Given the description of an element on the screen output the (x, y) to click on. 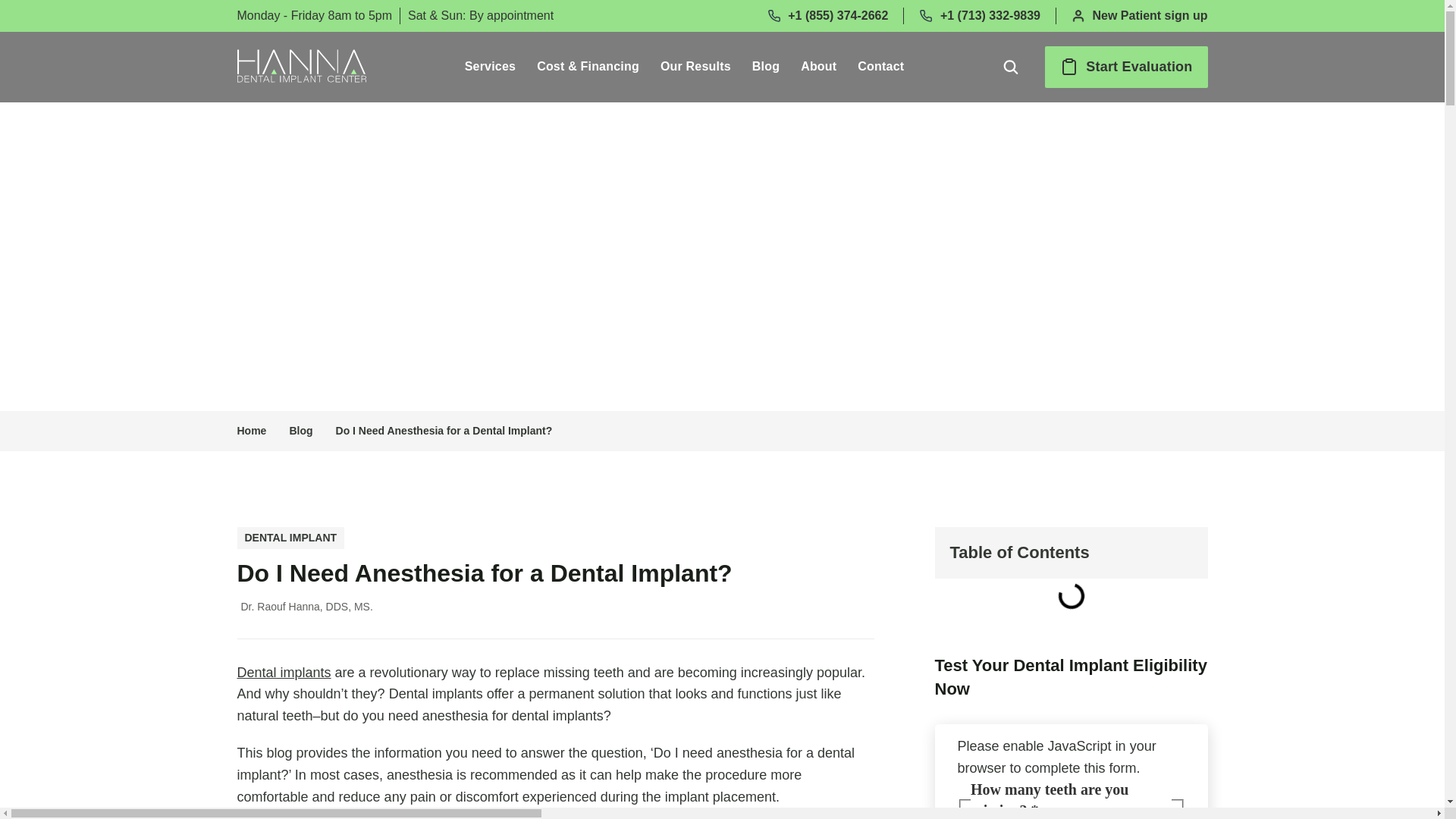
Our Results (695, 66)
About (818, 66)
Blog (765, 66)
New Patient sign up (1139, 15)
Services (489, 66)
Contact (880, 66)
